Given the description of an element on the screen output the (x, y) to click on. 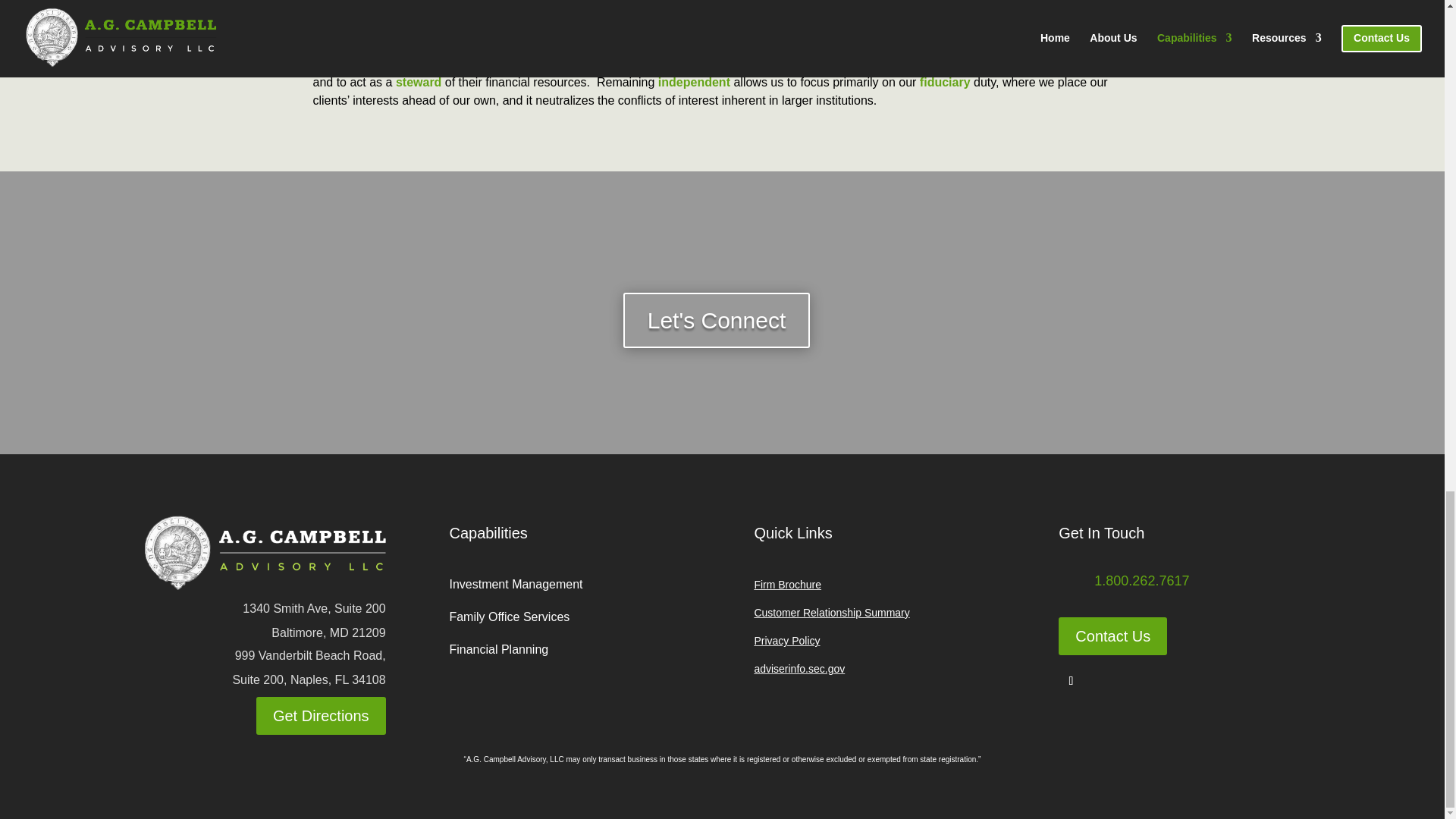
Firm Brochure (787, 584)
Privacy Policy (786, 640)
Follow on LinkedIn (1070, 680)
Let's Connect (716, 320)
Get Directions (320, 715)
Contact Us (1112, 636)
Customer Relationship Summary (831, 612)
adviserinfo.sec.gov (799, 668)
